Given the description of an element on the screen output the (x, y) to click on. 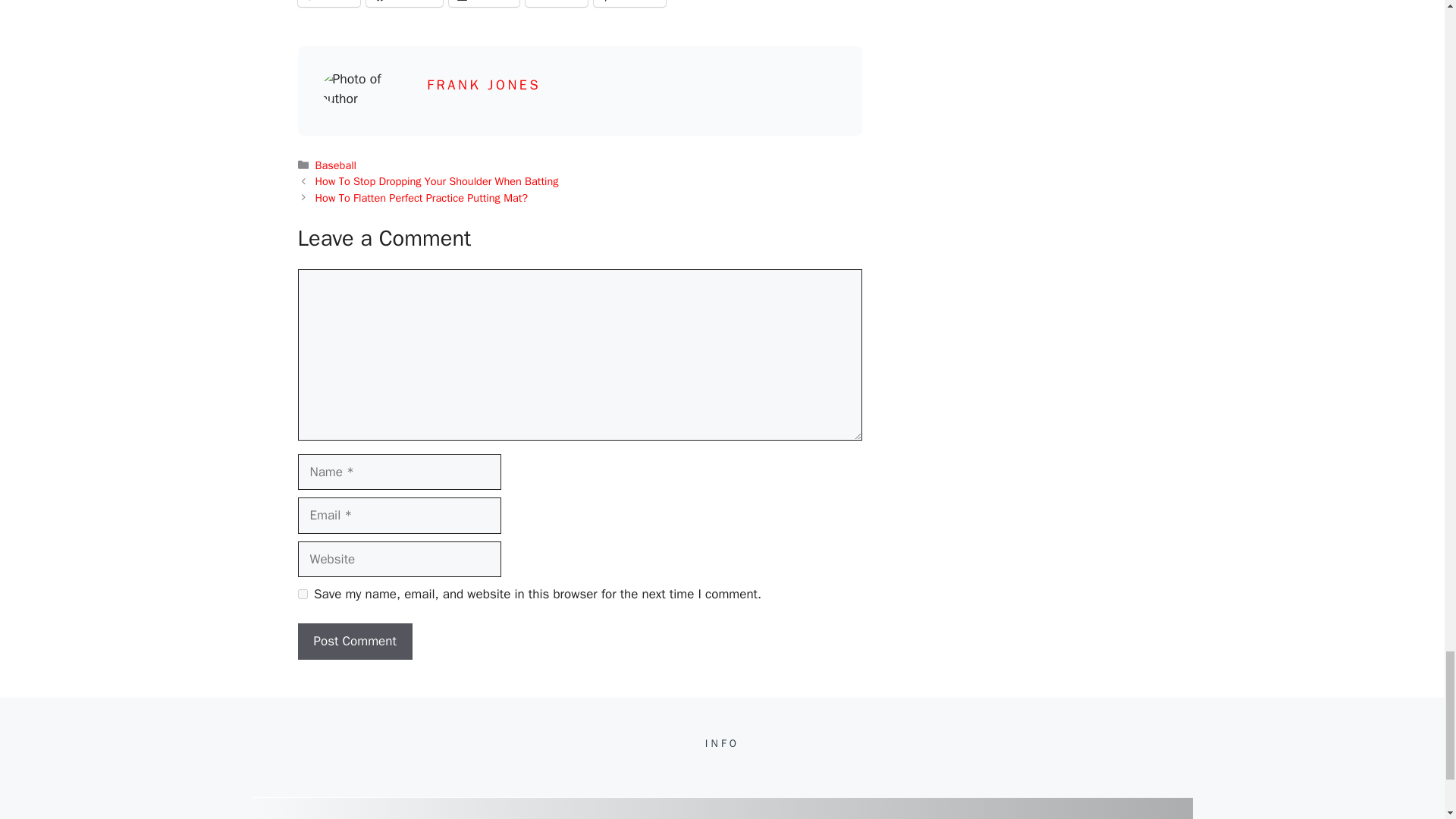
Click to share on Pinterest (629, 3)
Click to share on Reddit (556, 3)
Click to share on LinkedIn (483, 3)
Pinterest (629, 3)
Click to share on Facebook (404, 3)
LinkedIn (483, 3)
Baseball (335, 164)
How To Flatten Perfect Practice Putting Mat? (421, 197)
Post Comment (354, 641)
FRANK JONES (483, 84)
